Given the description of an element on the screen output the (x, y) to click on. 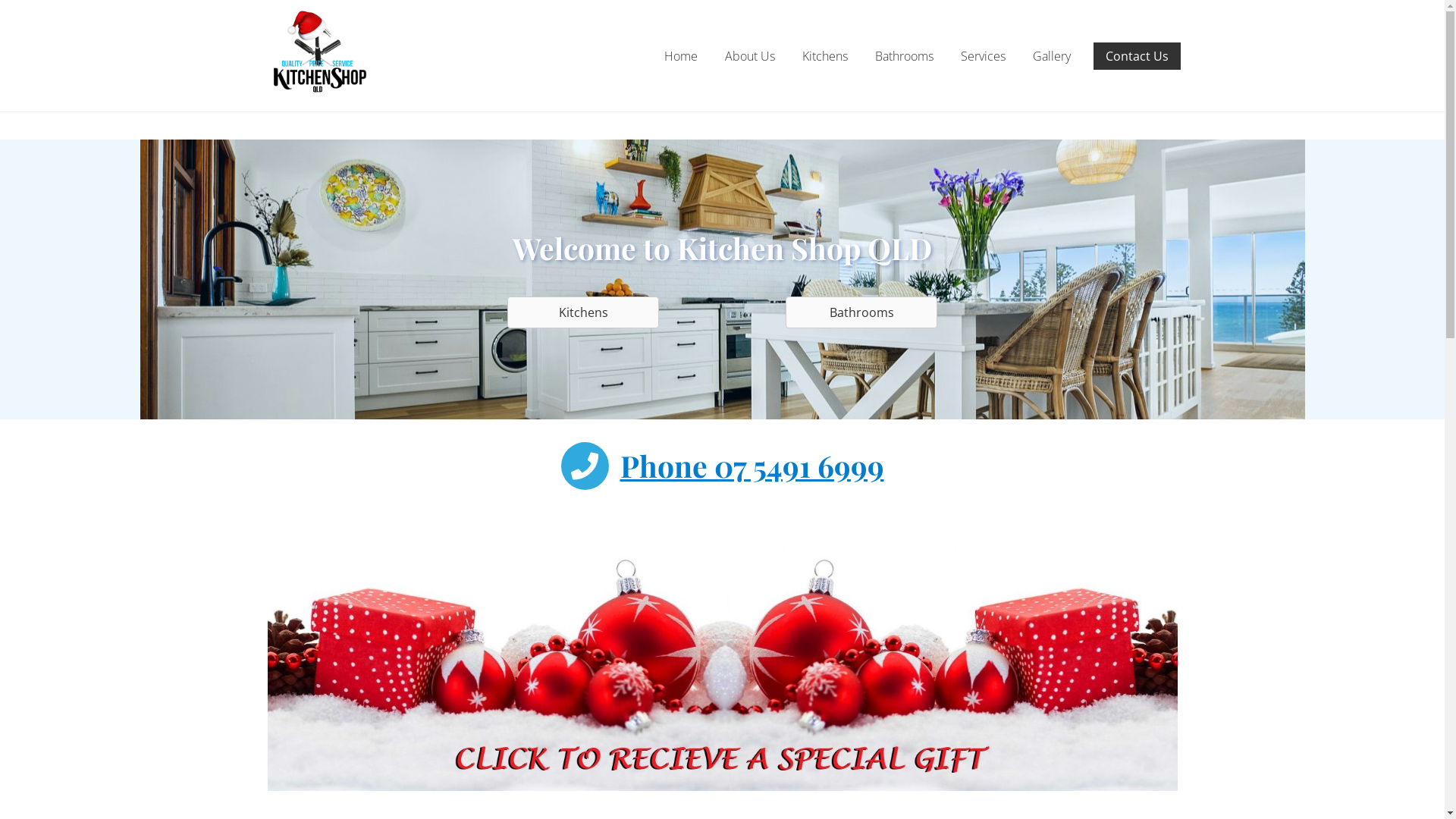
Bathrooms Element type: text (861, 312)
Bathrooms Element type: text (903, 55)
Kitchens Element type: text (824, 55)
Skip to right header navigation Element type: text (0, 0)
Kitchens Element type: text (582, 312)
Phone 07 5491 6999 Element type: text (752, 465)
Home Element type: text (680, 55)
Contact Us Element type: text (1136, 55)
Gallery Element type: text (1051, 55)
CHRISTMAS 23-24 Element type: hover (721, 661)
About Us Element type: text (749, 55)
Services Element type: text (981, 55)
